Given the description of an element on the screen output the (x, y) to click on. 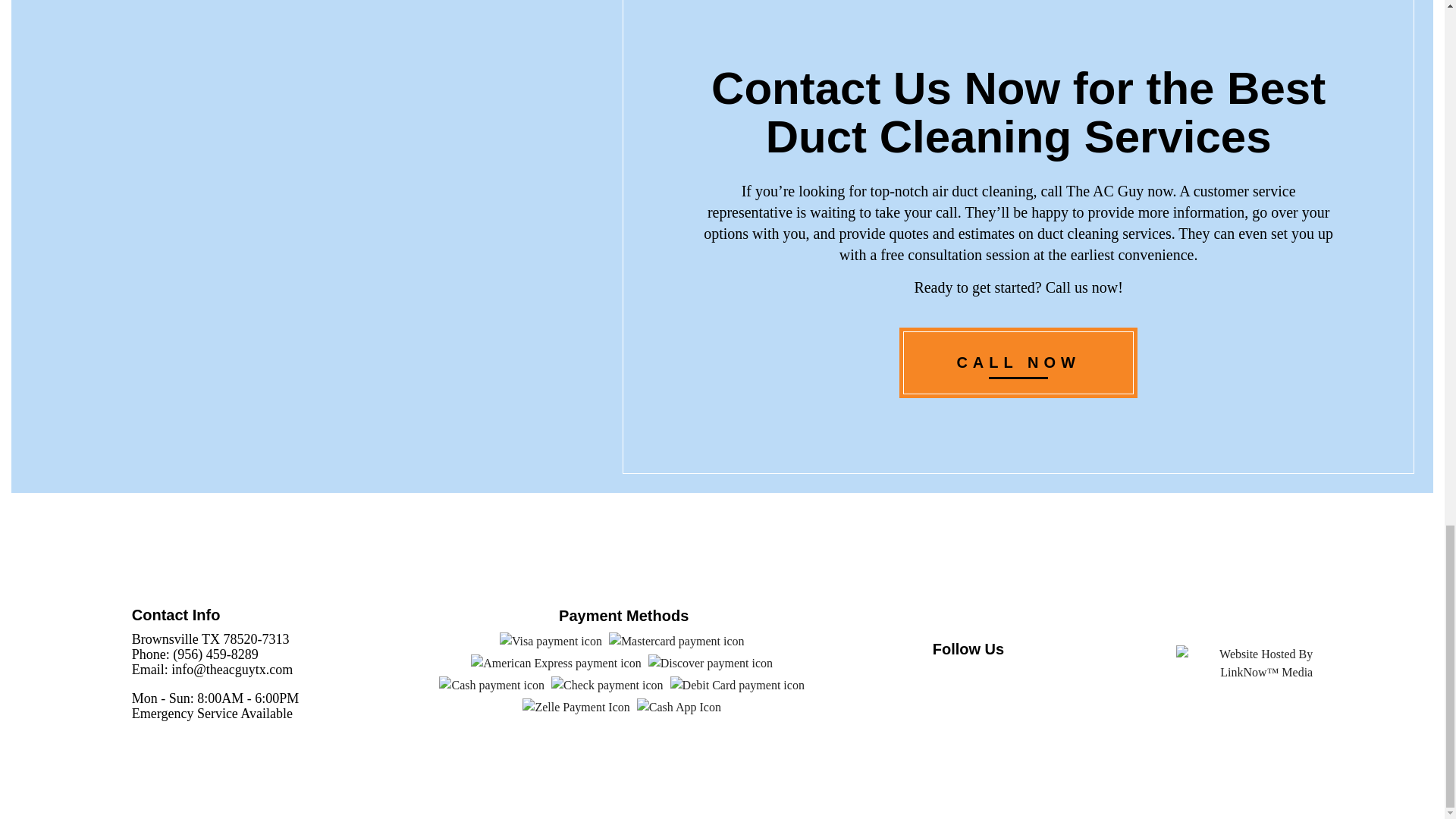
Visa (550, 641)
Discover (710, 663)
Cash App (678, 707)
Zelle (575, 707)
American Express (555, 663)
Debit Card (737, 685)
Cash (491, 685)
Mastercard (676, 641)
Check (607, 685)
